Given the description of an element on the screen output the (x, y) to click on. 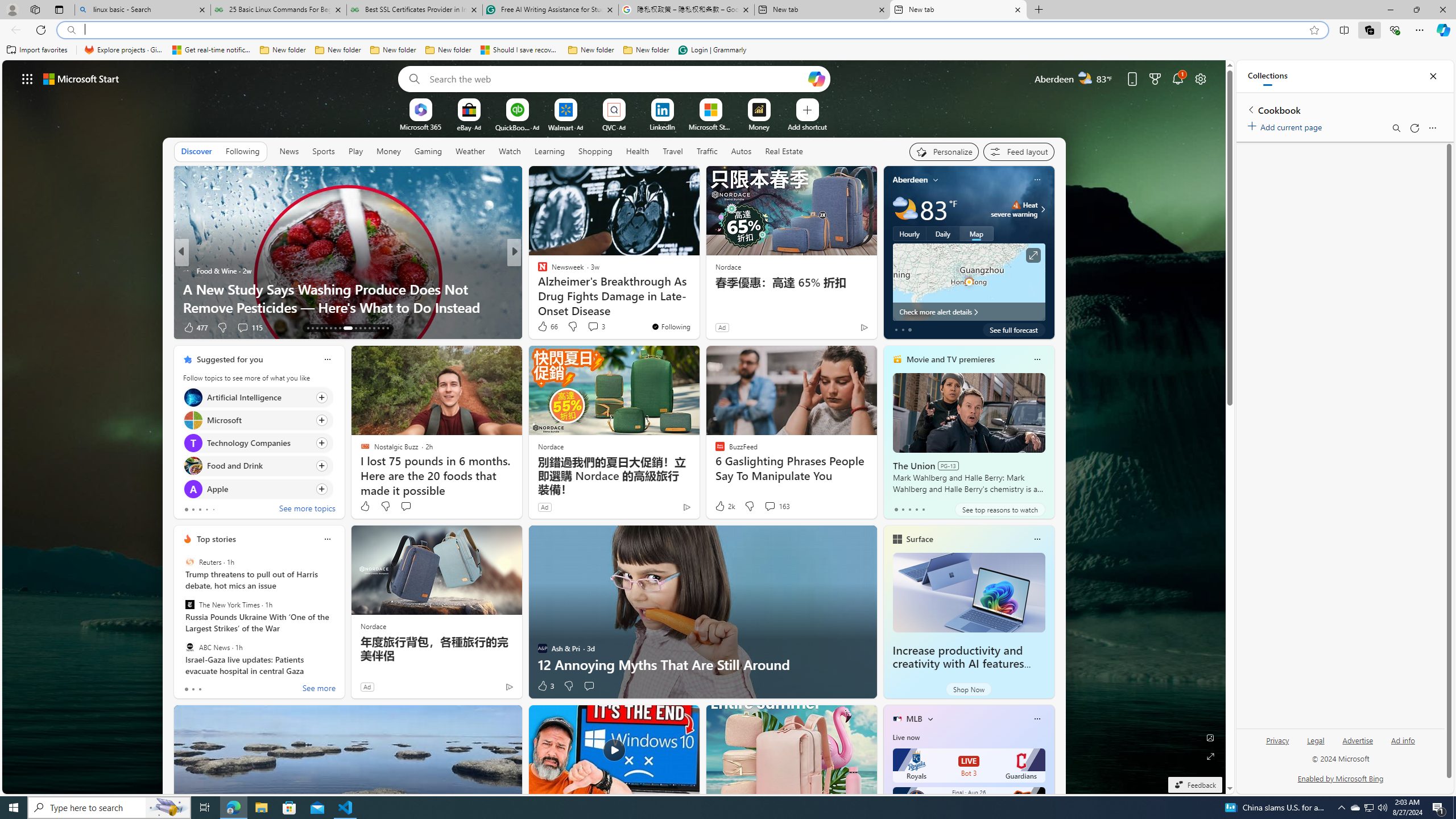
Heat - Severe (1015, 204)
AutomationID: tab-21 (345, 328)
The New York Times (189, 604)
Sports (323, 151)
Hourly (909, 233)
AutomationID: tab-27 (378, 328)
Top stories (215, 538)
962 Like (194, 327)
See more topics (306, 509)
Ad Choice (508, 686)
Import favorites (36, 49)
